Given the description of an element on the screen output the (x, y) to click on. 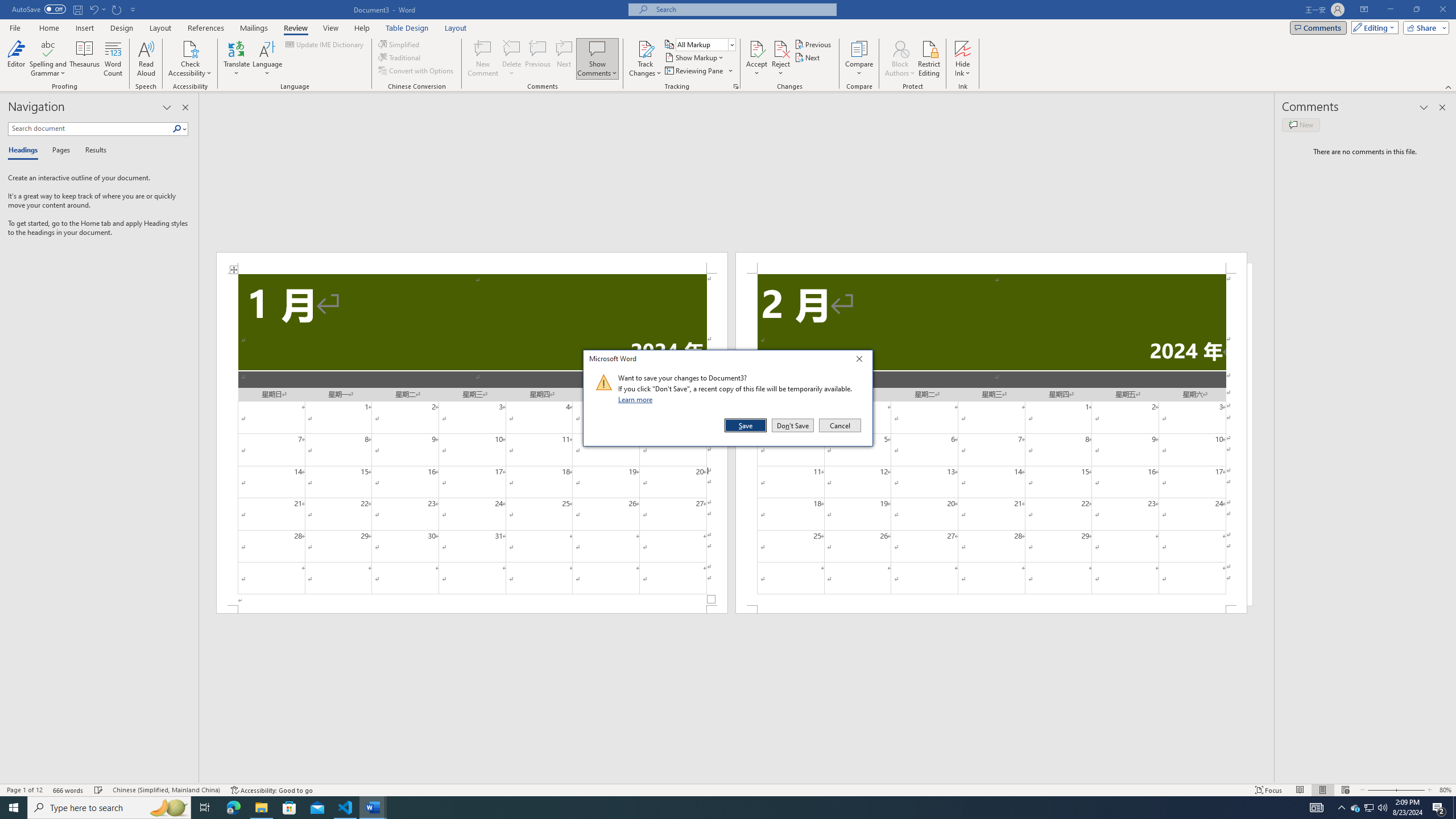
Pages (59, 150)
Type here to search (108, 807)
Accept and Move to Next (756, 48)
Page Number Page 1 of 12 (24, 790)
File Explorer - 1 running window (261, 807)
Start (13, 807)
Update IME Dictionary... (324, 44)
Previous (813, 44)
Headings (25, 150)
